Given the description of an element on the screen output the (x, y) to click on. 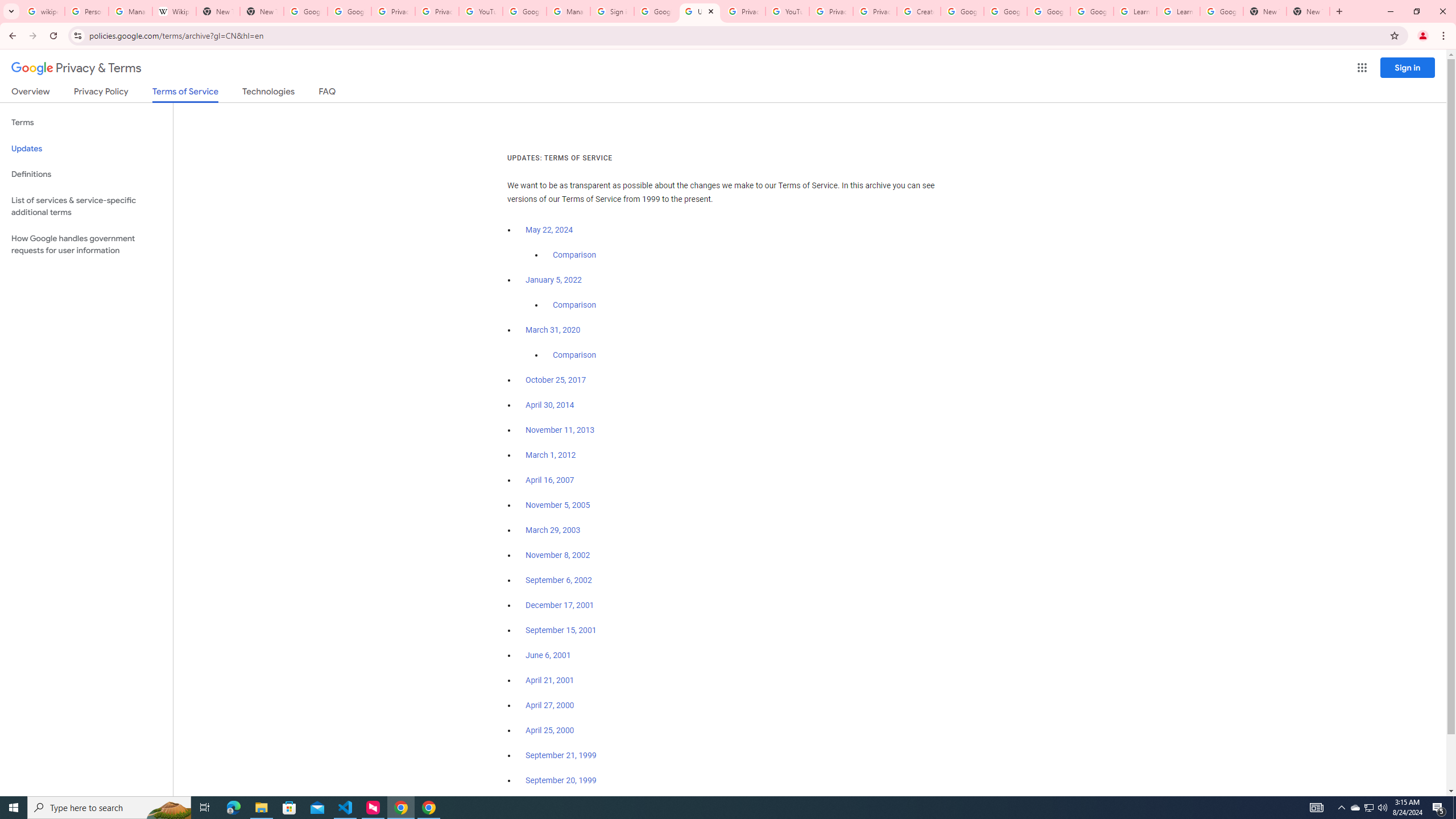
List of services & service-specific additional terms (86, 206)
Google Account Help (962, 11)
April 25, 2000 (550, 729)
April 30, 2014 (550, 405)
Terms (86, 122)
December 17, 2001 (559, 605)
November 5, 2005 (557, 505)
Google Account Help (1091, 11)
Wikipedia:Edit requests - Wikipedia (173, 11)
September 20, 1999 (560, 780)
Manage your Location History - Google Search Help (130, 11)
